Given the description of an element on the screen output the (x, y) to click on. 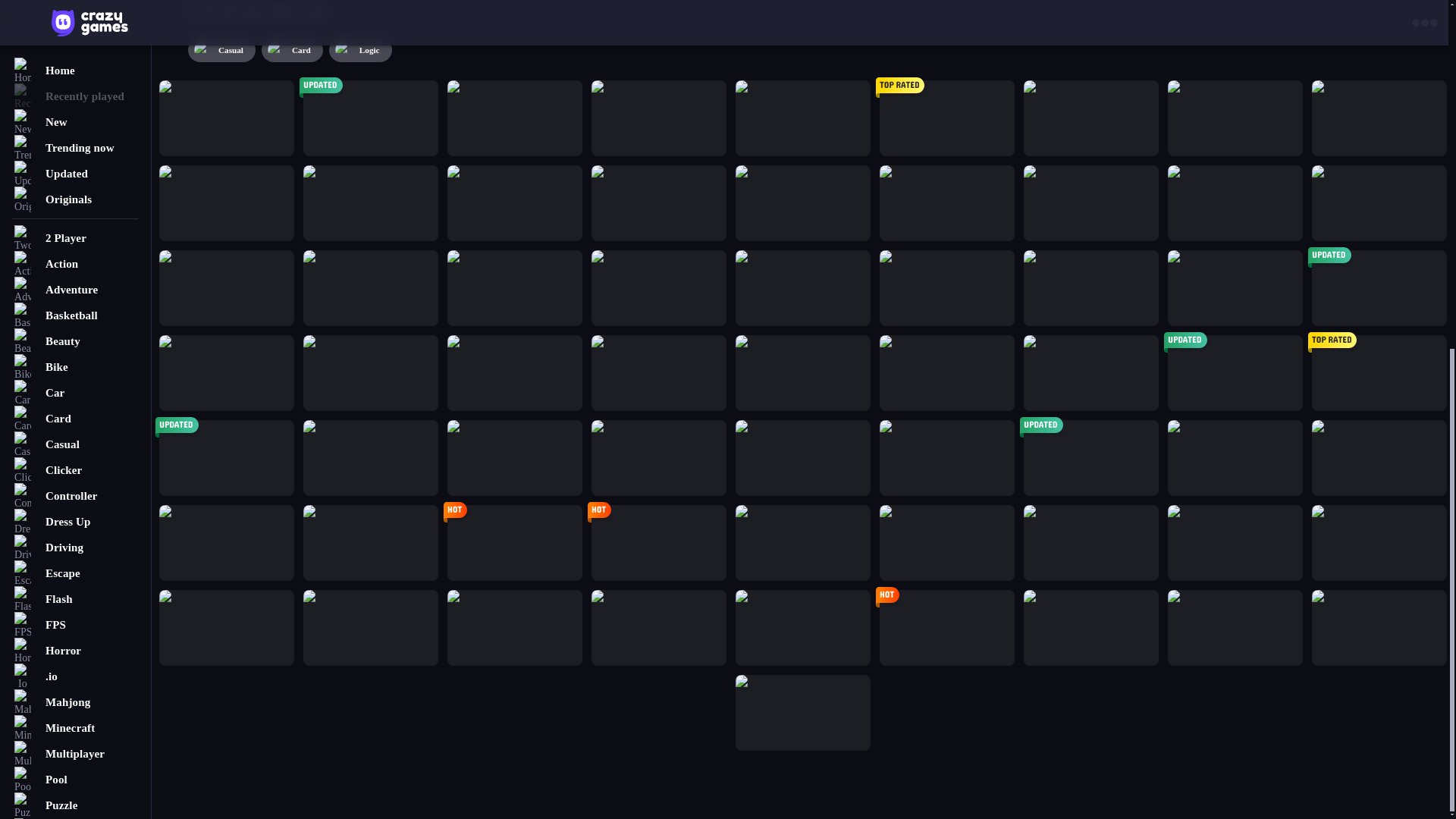
Flash (75, 3)
Stickman (75, 303)
Contact us (75, 400)
Shooting (75, 226)
FPS (75, 20)
Multiplayer (75, 149)
Tags (75, 368)
Puzzle (75, 200)
Minecraft (75, 123)
English (73, 440)
